Given the description of an element on the screen output the (x, y) to click on. 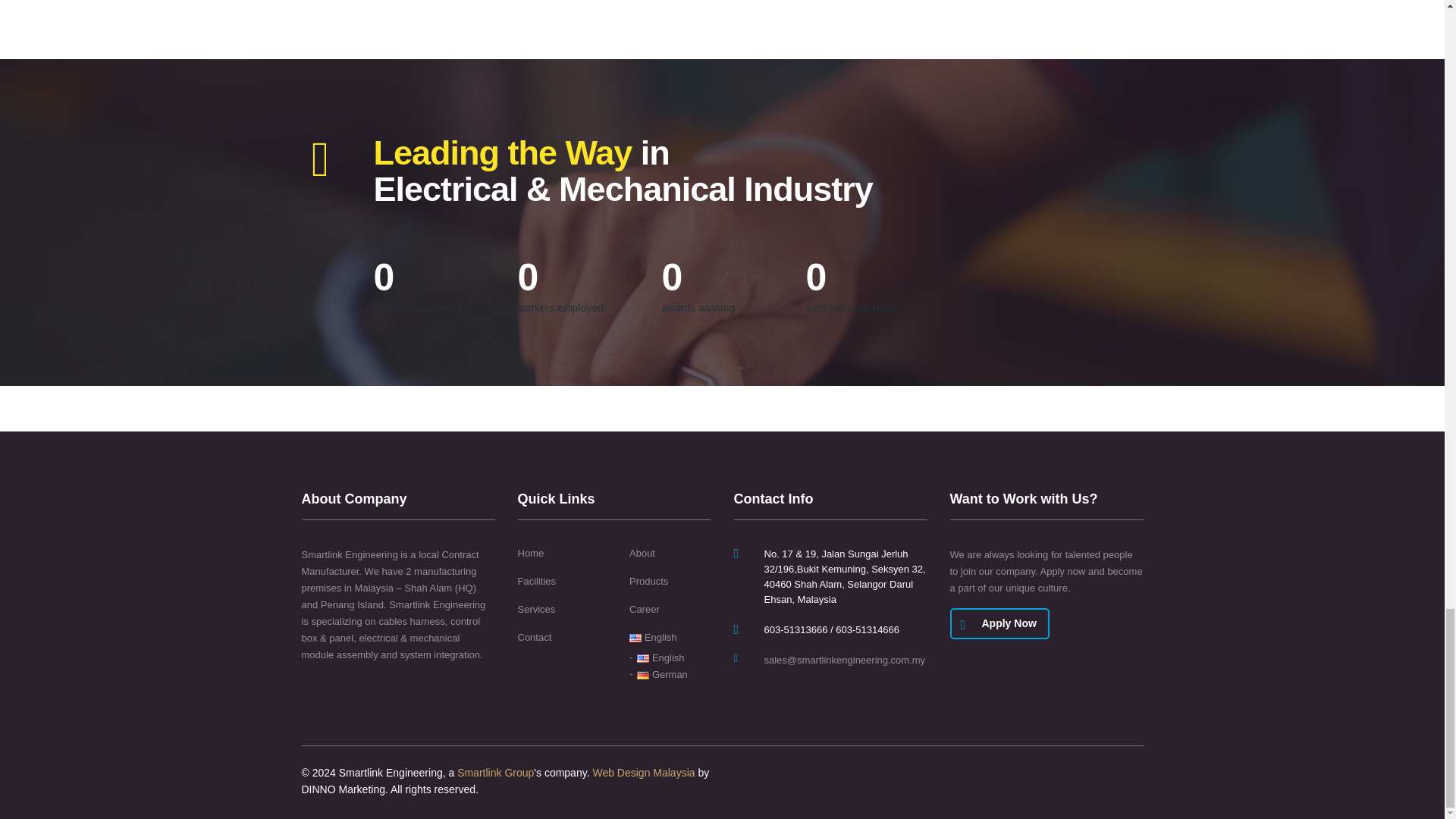
Contact (533, 637)
Home (529, 553)
Products (648, 581)
Services (535, 609)
Facilities (536, 581)
About (641, 553)
English (652, 637)
Career (643, 609)
